Given the description of an element on the screen output the (x, y) to click on. 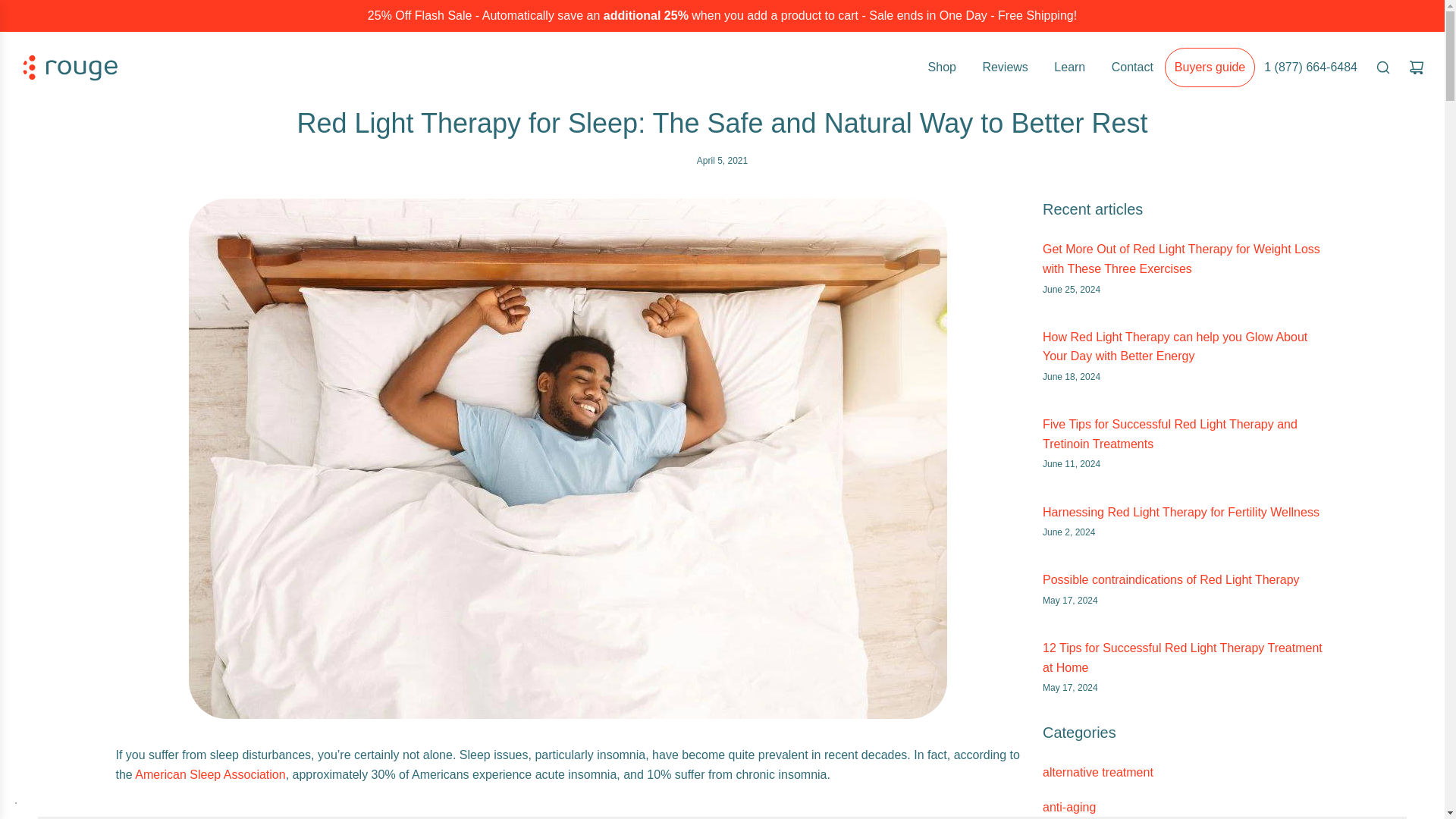
Buyers guide (1209, 66)
Shop (942, 66)
Show articles tagged alternative treatment (1097, 771)
Learn (1069, 66)
Contact (1132, 66)
Show articles tagged anti-aging (1069, 807)
Reviews (1005, 66)
